Given the description of an element on the screen output the (x, y) to click on. 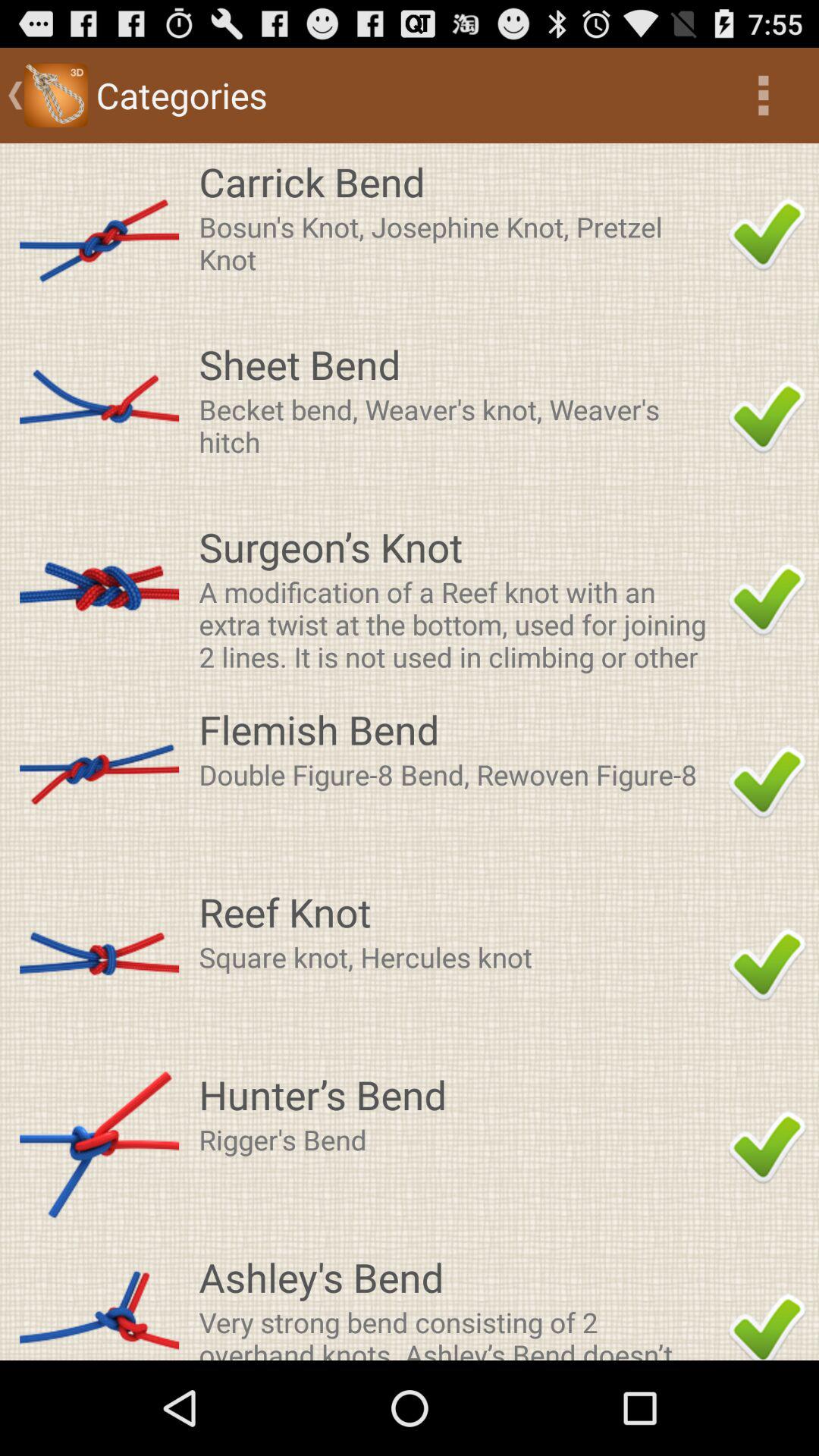
open the a modification of (459, 623)
